Given the description of an element on the screen output the (x, y) to click on. 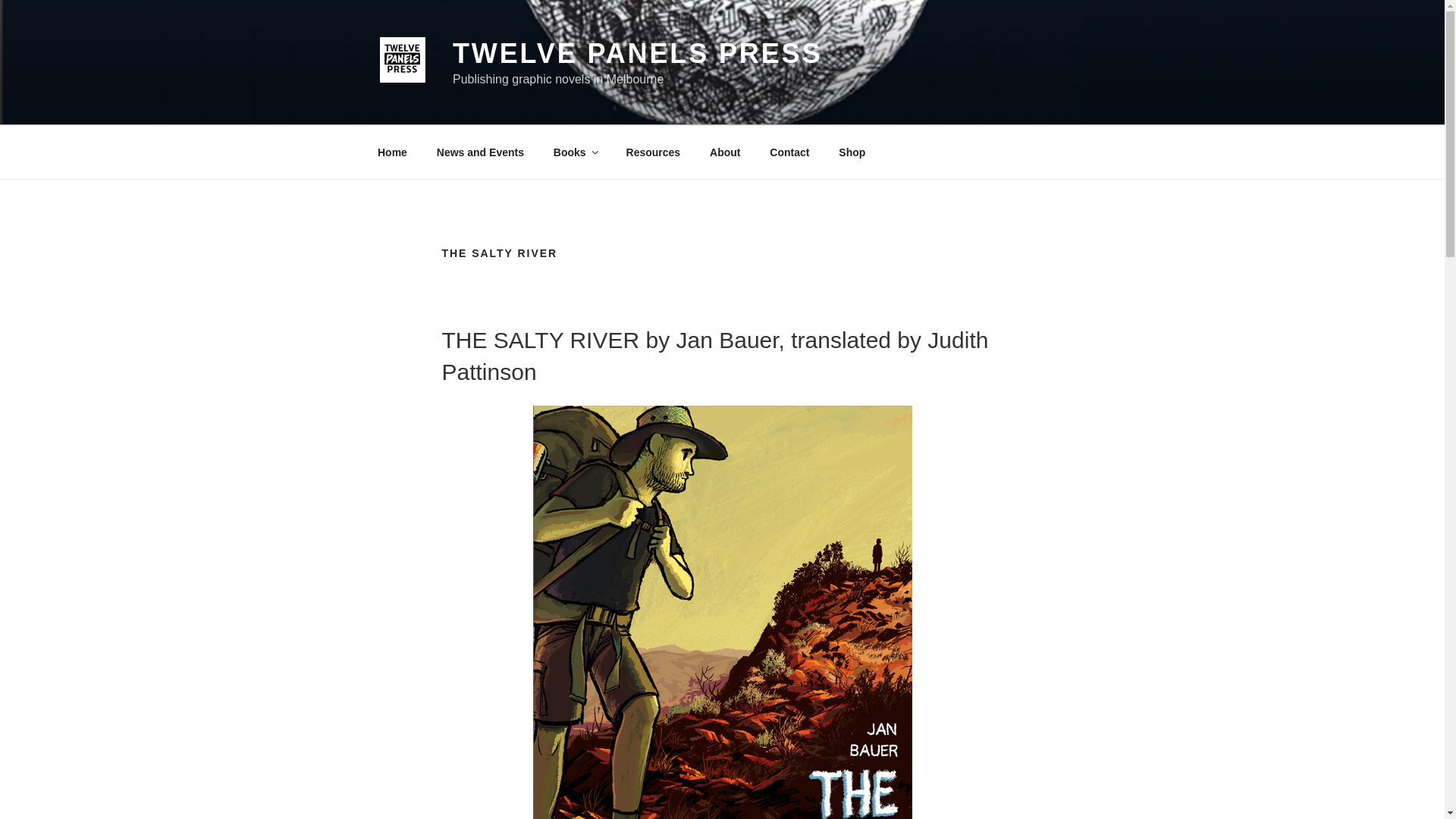
Resources (653, 151)
About (725, 151)
TWELVE PANELS PRESS (637, 52)
News and Events (480, 151)
Contact (789, 151)
Books (575, 151)
Shop (852, 151)
Home (392, 151)
